Given the description of an element on the screen output the (x, y) to click on. 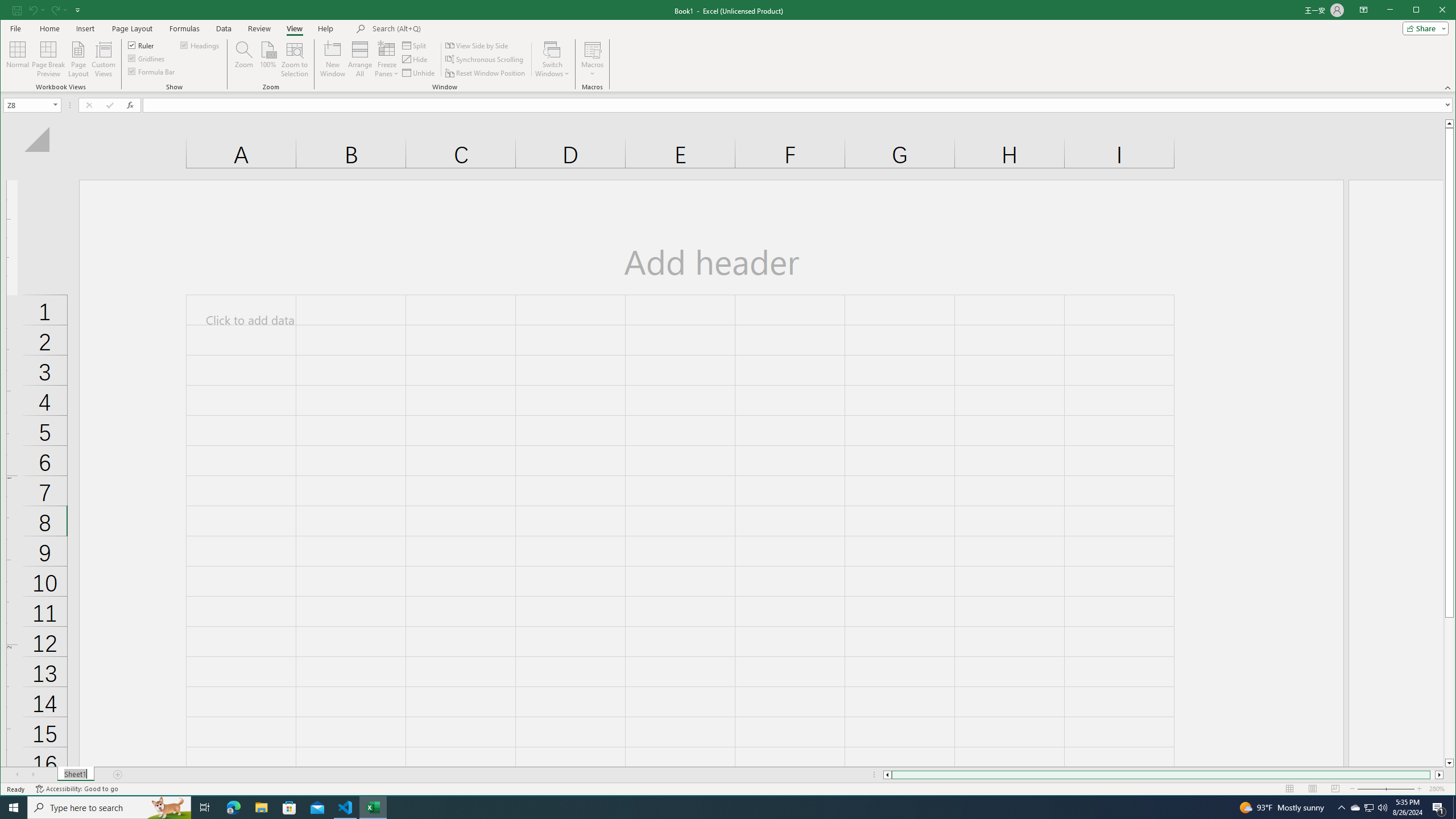
View Macros (592, 48)
Notification Chevron (1341, 807)
Running applications (717, 807)
Zoom to Selection (294, 59)
Gridlines (147, 57)
Hide (415, 59)
